Given the description of an element on the screen output the (x, y) to click on. 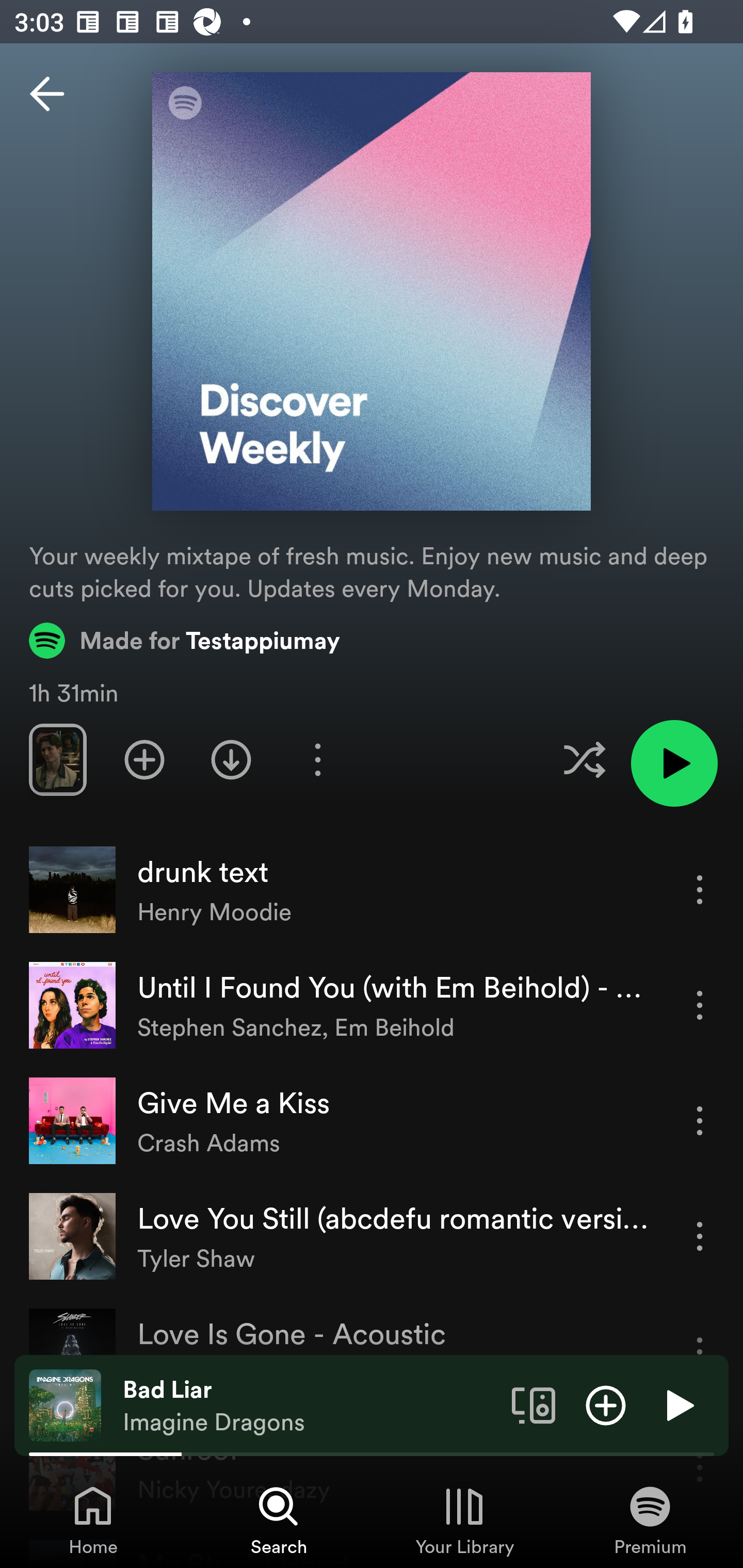
Back (46, 93)
Made for Testappiumay (184, 640)
Swipe through previews of tracks in this playlist. (57, 759)
Add playlist to Your Library (144, 759)
Download (230, 759)
More options for playlist Discover Weekly (317, 759)
Enable shuffle for this playlist (583, 759)
Play playlist (674, 763)
More options for song drunk text (699, 889)
More options for song Give Me a Kiss (699, 1120)
Bad Liar Imagine Dragons (309, 1405)
The cover art of the currently playing track (64, 1404)
